Given the description of an element on the screen output the (x, y) to click on. 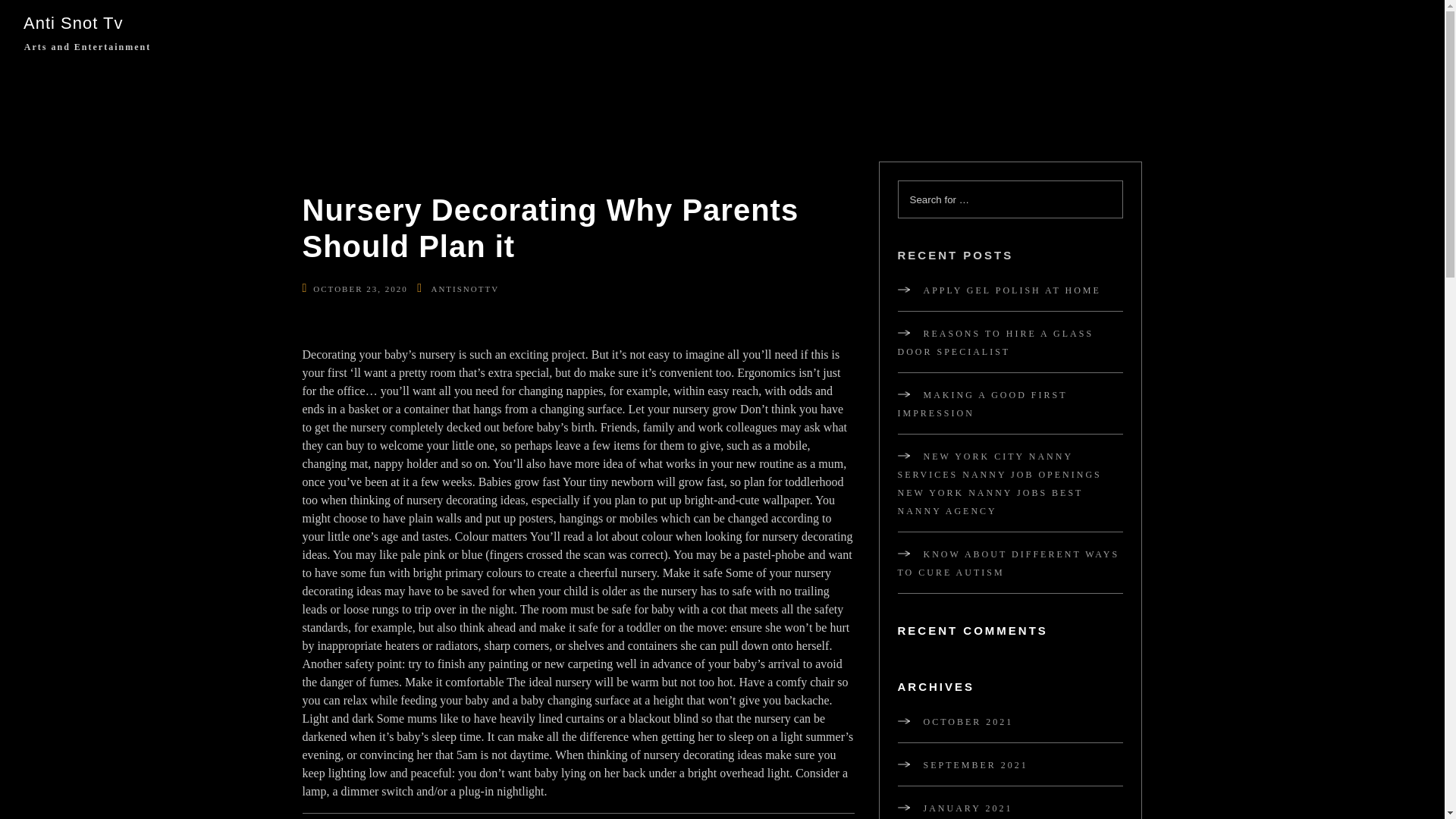
KNOW ABOUT DIFFERENT WAYS TO CURE AUTISM (1008, 563)
APPLY GEL POLISH AT HOME (999, 290)
JANUARY 2021 (955, 808)
Anti Snot Tv (80, 22)
ANTISNOTTV (464, 288)
OCTOBER 2021 (955, 721)
SEPTEMBER 2021 (962, 764)
OCTOBER 23, 2020 (360, 288)
MAKING A GOOD FIRST IMPRESSION (982, 403)
